Given the description of an element on the screen output the (x, y) to click on. 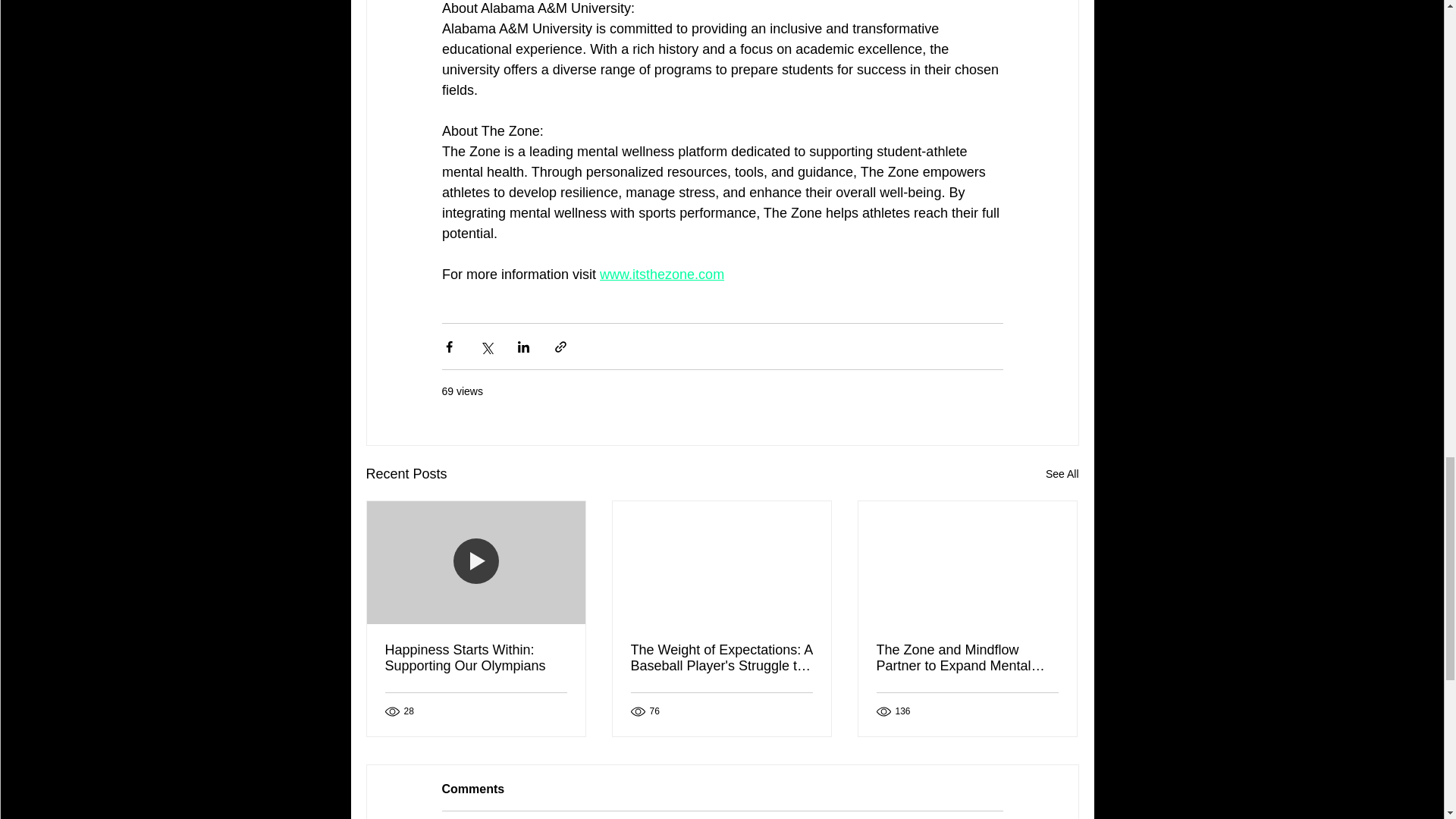
See All (1061, 474)
www.itsthezone.com (661, 273)
Happiness Starts Within: Supporting Our Olympians (476, 658)
